Given the description of an element on the screen output the (x, y) to click on. 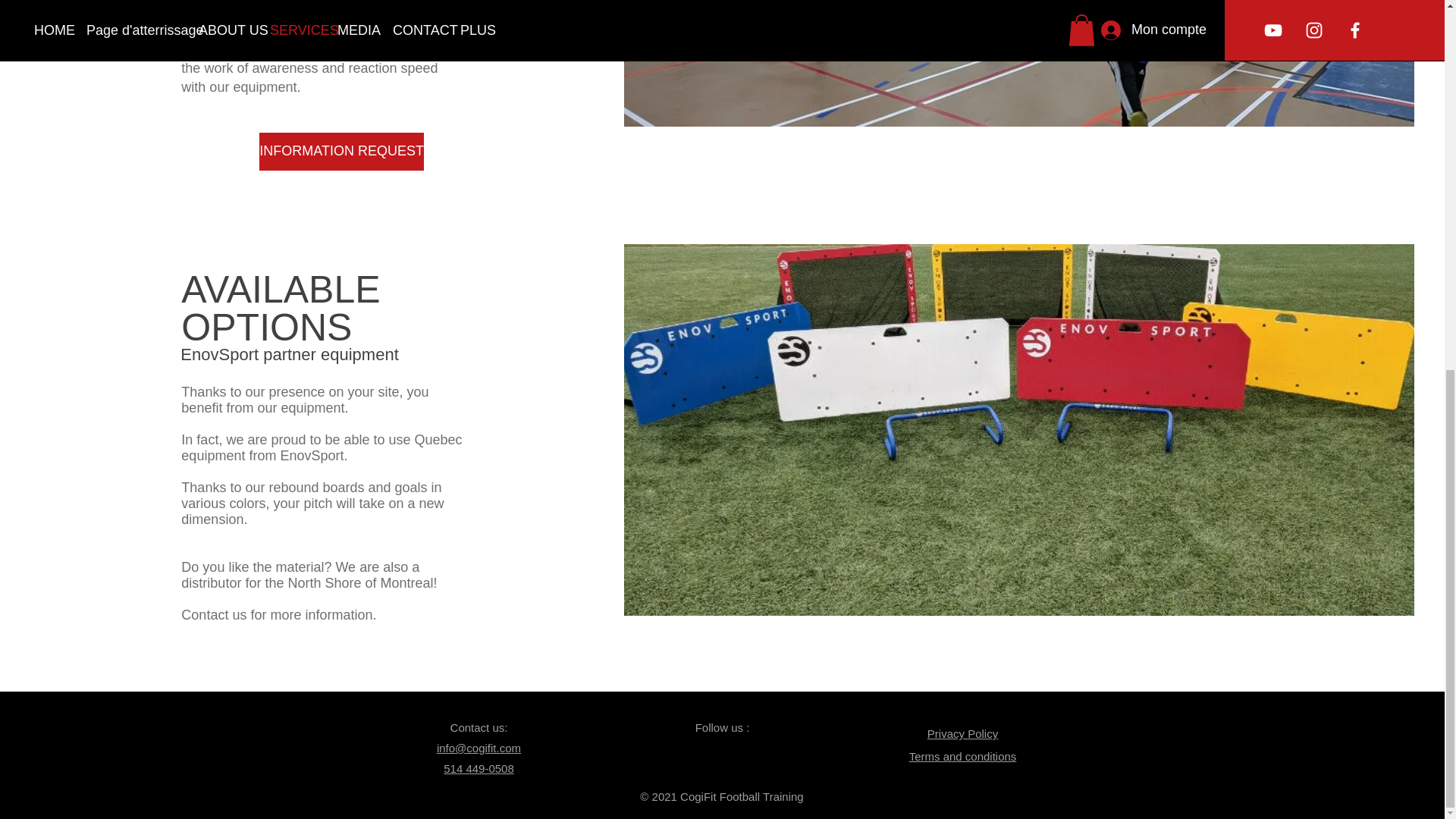
Terms and conditions (962, 756)
514 449-0508 (478, 768)
Privacy Policy (962, 733)
INFORMATION REQUEST (341, 151)
